Given the description of an element on the screen output the (x, y) to click on. 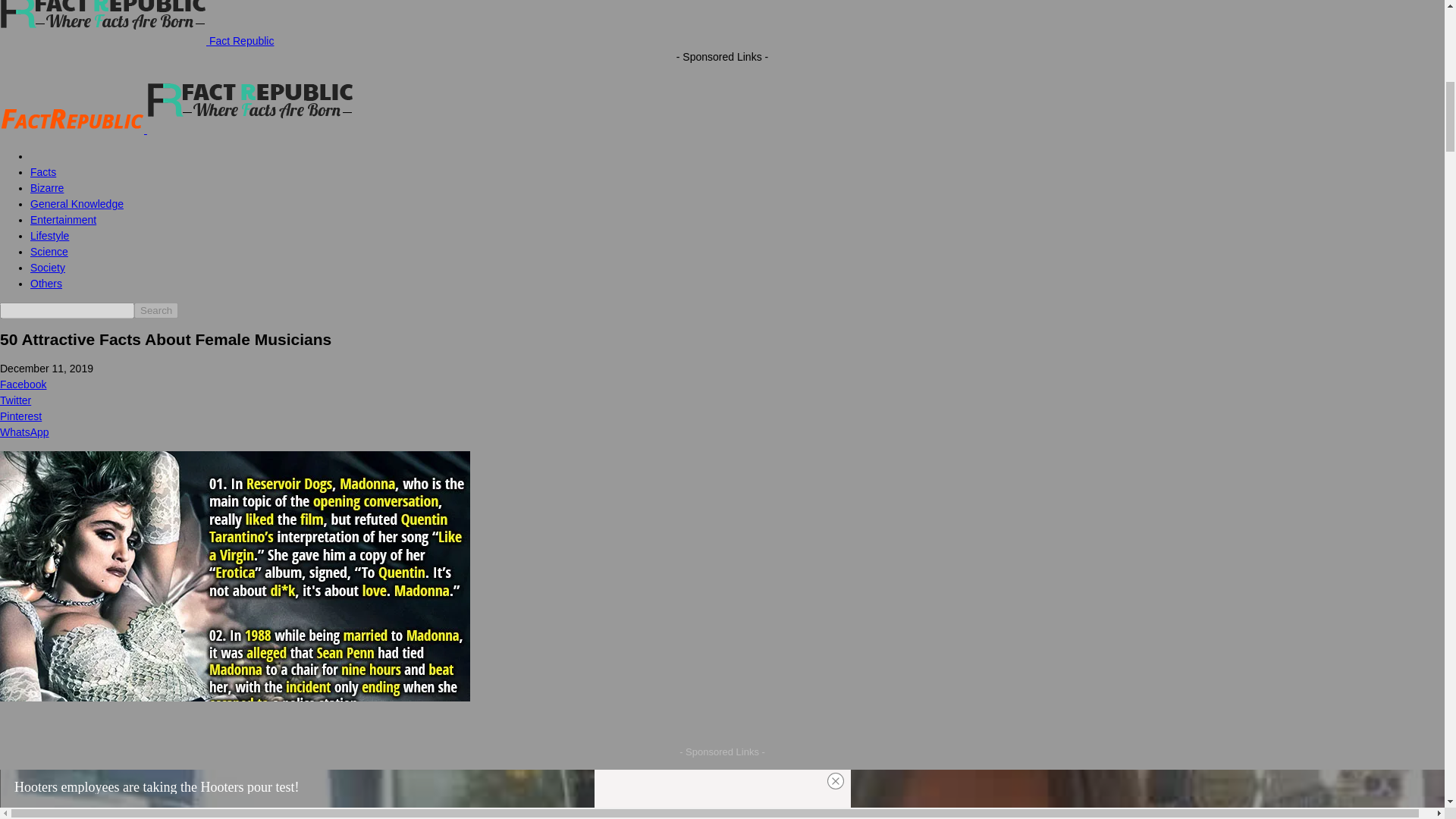
Facebook (722, 384)
Where Facts Are Born (72, 119)
Where Facts Are Born (103, 22)
Search (155, 310)
Where Facts Are Born (250, 99)
